Given the description of an element on the screen output the (x, y) to click on. 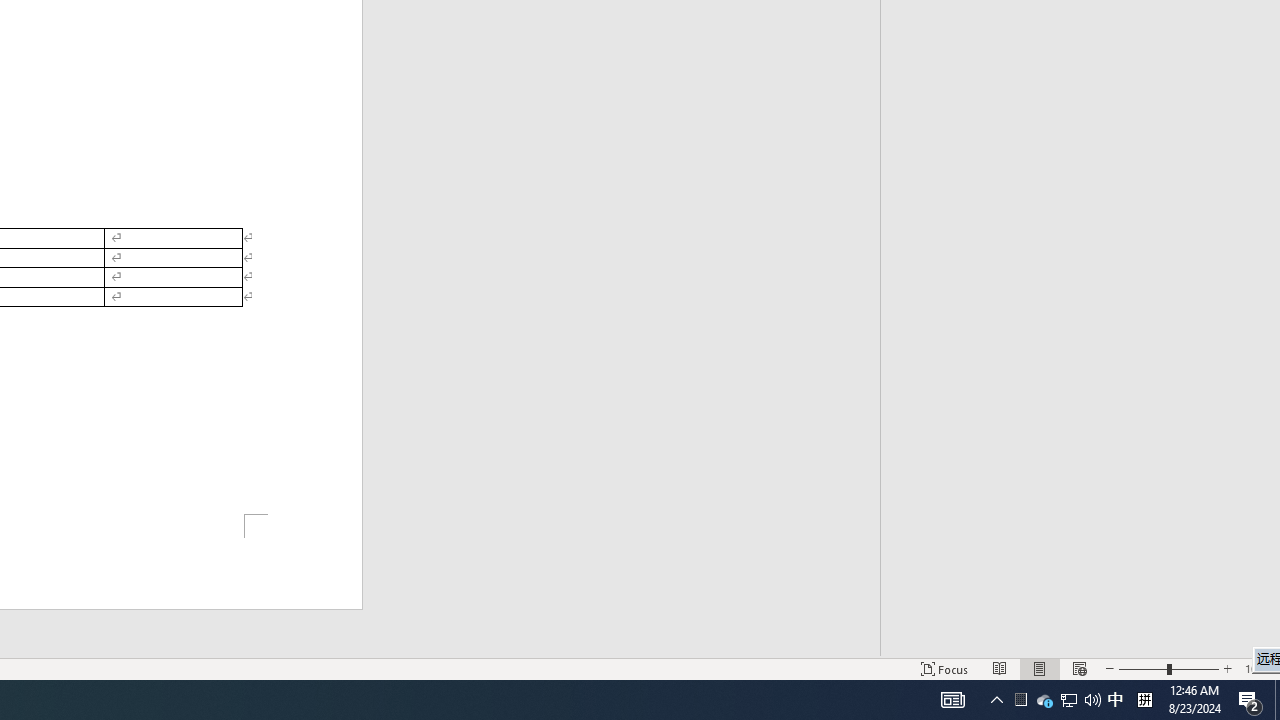
Zoom 100% (1044, 699)
AutomationID: 4105 (1115, 699)
Action Center, 2 new notifications (1258, 668)
